Given the description of an element on the screen output the (x, y) to click on. 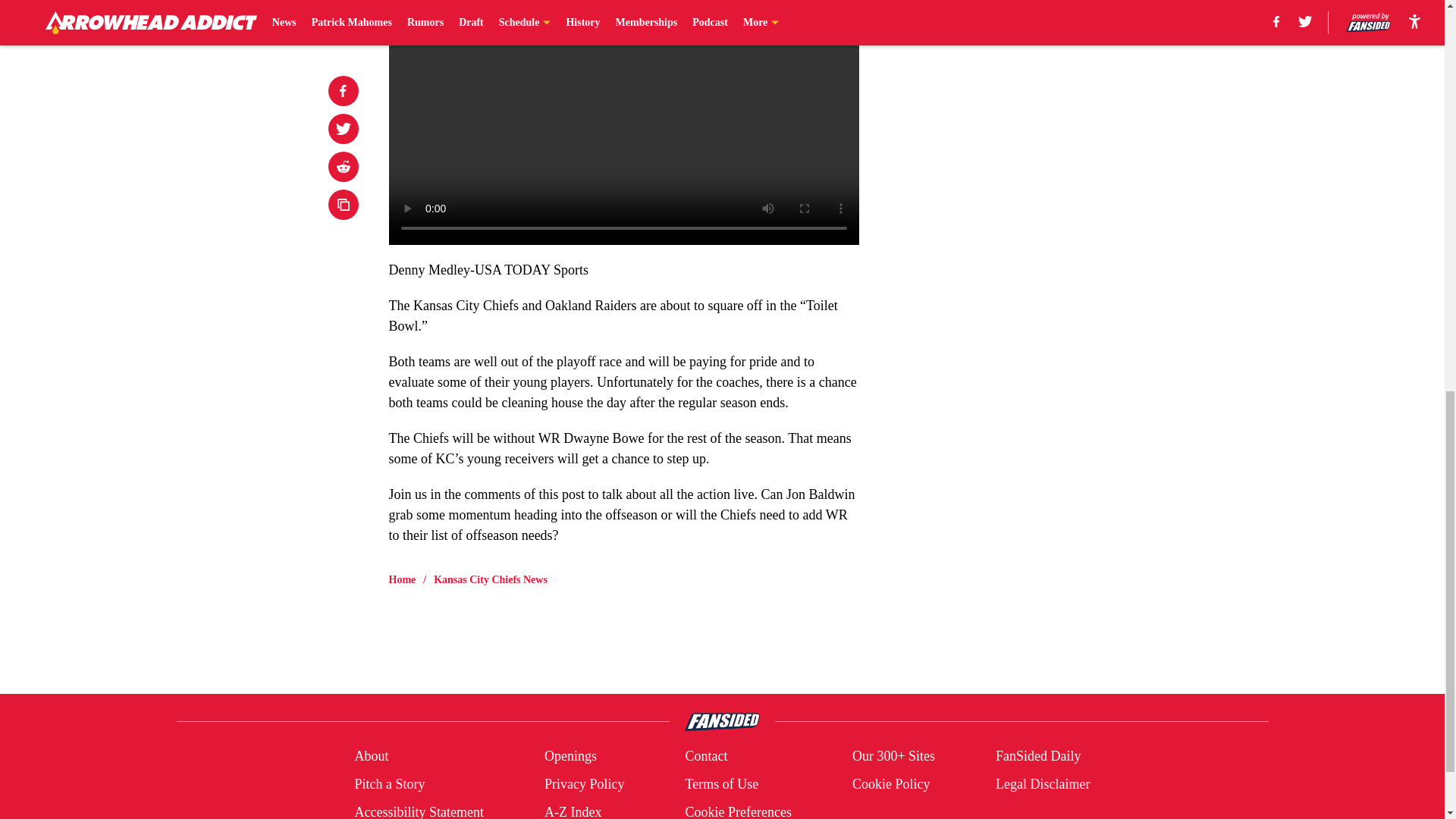
Contact (705, 756)
Terms of Use (721, 783)
FanSided Daily (1038, 756)
About (370, 756)
Privacy Policy (584, 783)
Openings (570, 756)
Kansas City Chiefs News (490, 580)
Home (401, 580)
Pitch a Story (389, 783)
